Given the description of an element on the screen output the (x, y) to click on. 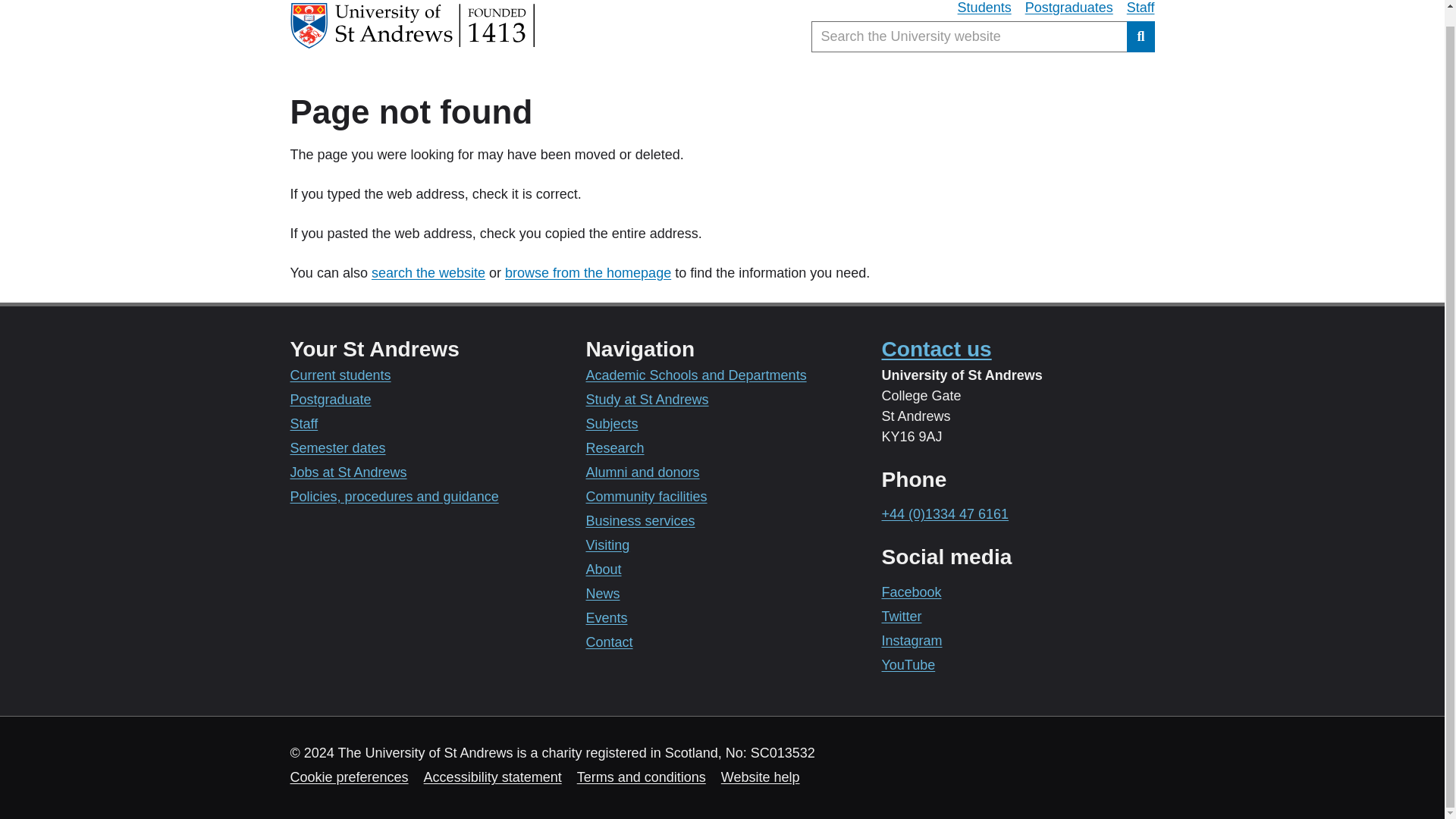
Research (614, 447)
Postgraduate (330, 399)
Facebook (910, 591)
Accessibility statement (492, 776)
Students (984, 9)
Twitter (900, 616)
Staff (1140, 9)
s (374, 272)
Community facilities (645, 496)
Instagram (911, 640)
Events (606, 617)
Academic Schools and Departments (695, 375)
Business services (639, 520)
Policies, procedures and guidance (393, 496)
About (603, 569)
